Given the description of an element on the screen output the (x, y) to click on. 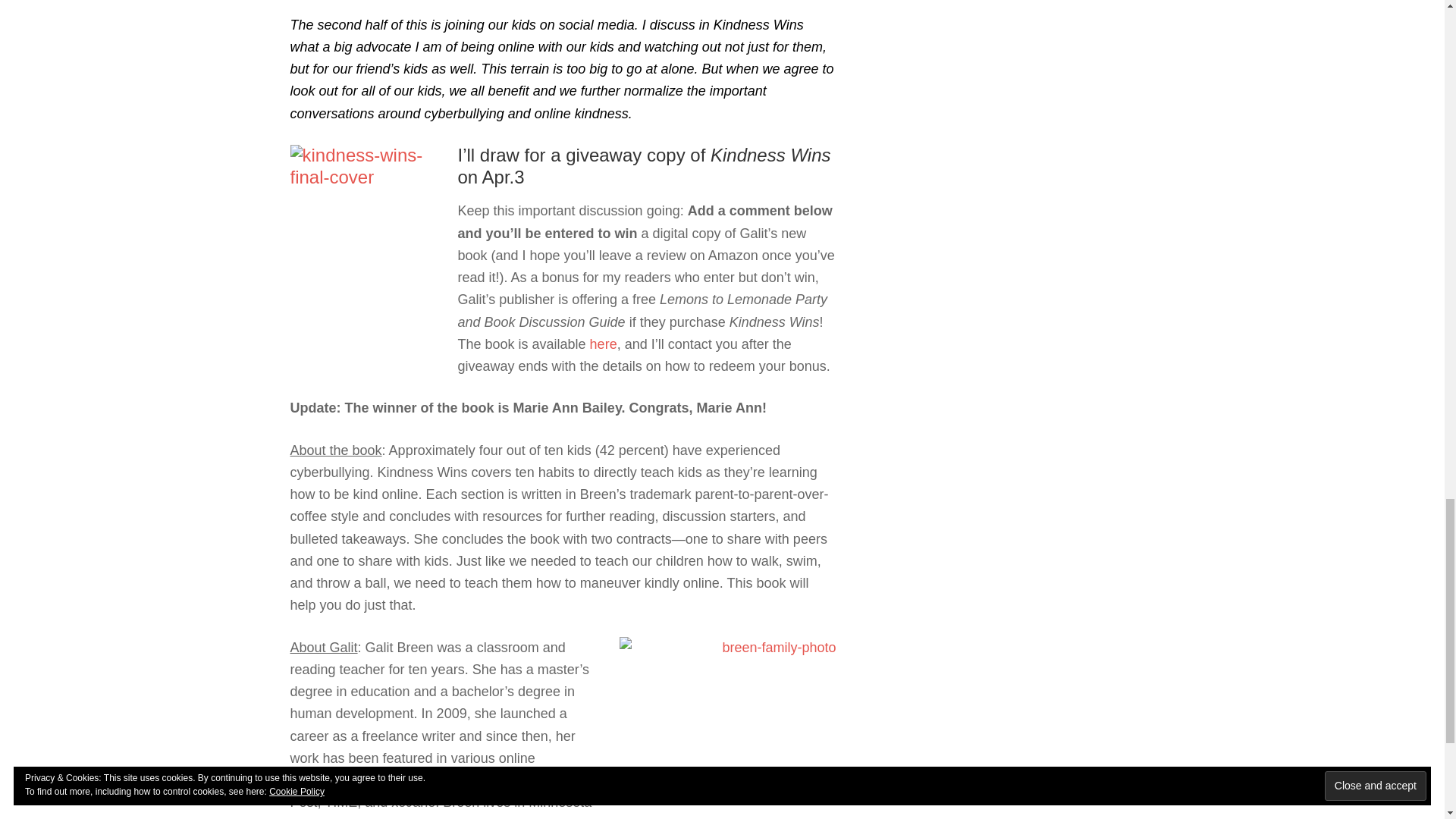
Kindness Wins on Amazon (603, 344)
here (603, 344)
